Given the description of an element on the screen output the (x, y) to click on. 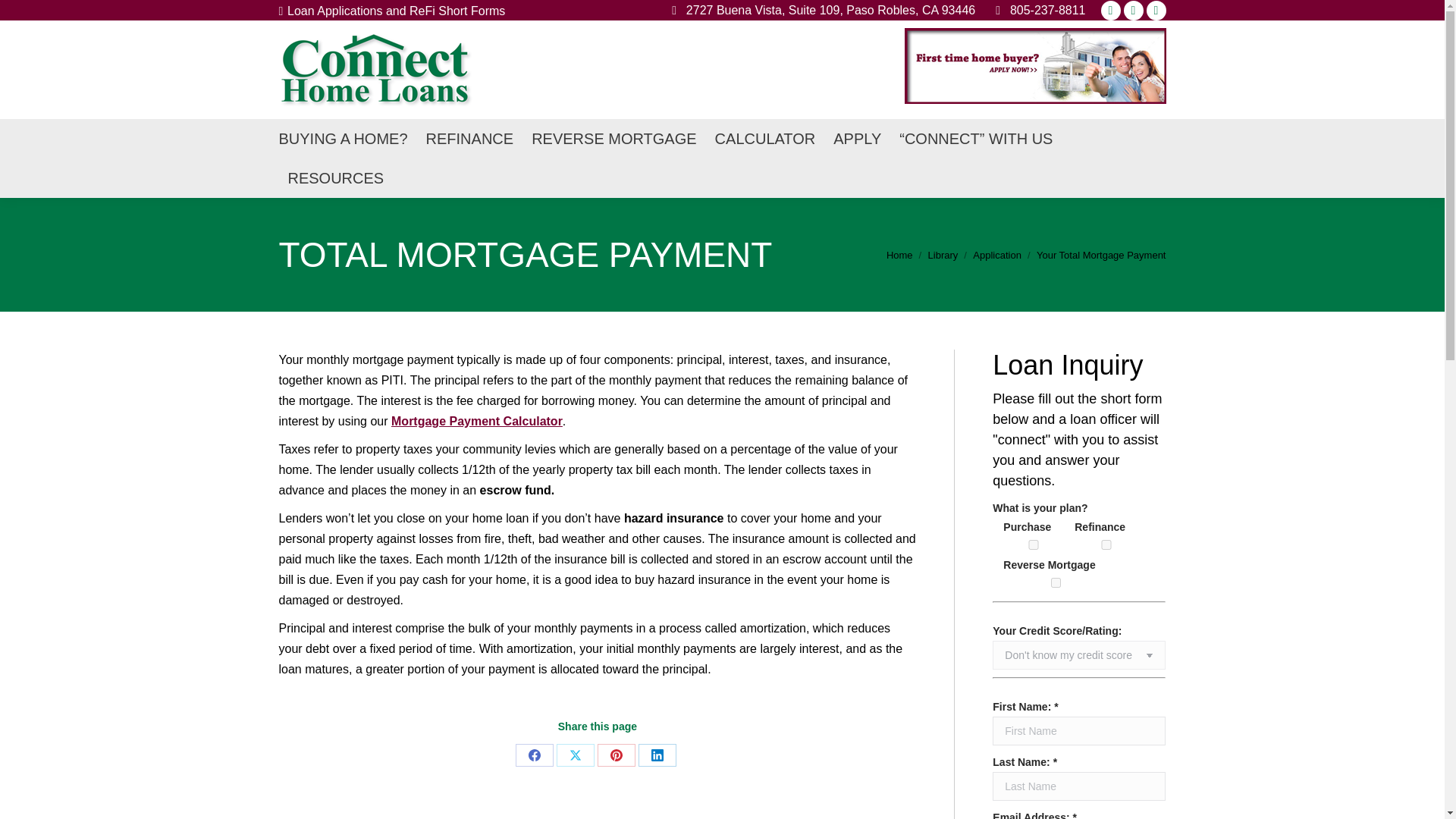
APPLY (856, 138)
Yelp page opens in new window (1110, 9)
Go! (24, 17)
MORTGAGE CALCULATOR (764, 138)
Reverse Mortgage (1055, 583)
Purchase (1033, 544)
Facebook page opens in new window (1156, 9)
X page opens in new window (1133, 9)
LOAN APPLICATION (856, 138)
BUYING A HOME? (343, 138)
Facebook page opens in new window (1156, 9)
CALCULATOR (764, 138)
REVERSE MORTGAGE (613, 138)
Refinance (1106, 544)
Yelp page opens in new window (1110, 9)
